Given the description of an element on the screen output the (x, y) to click on. 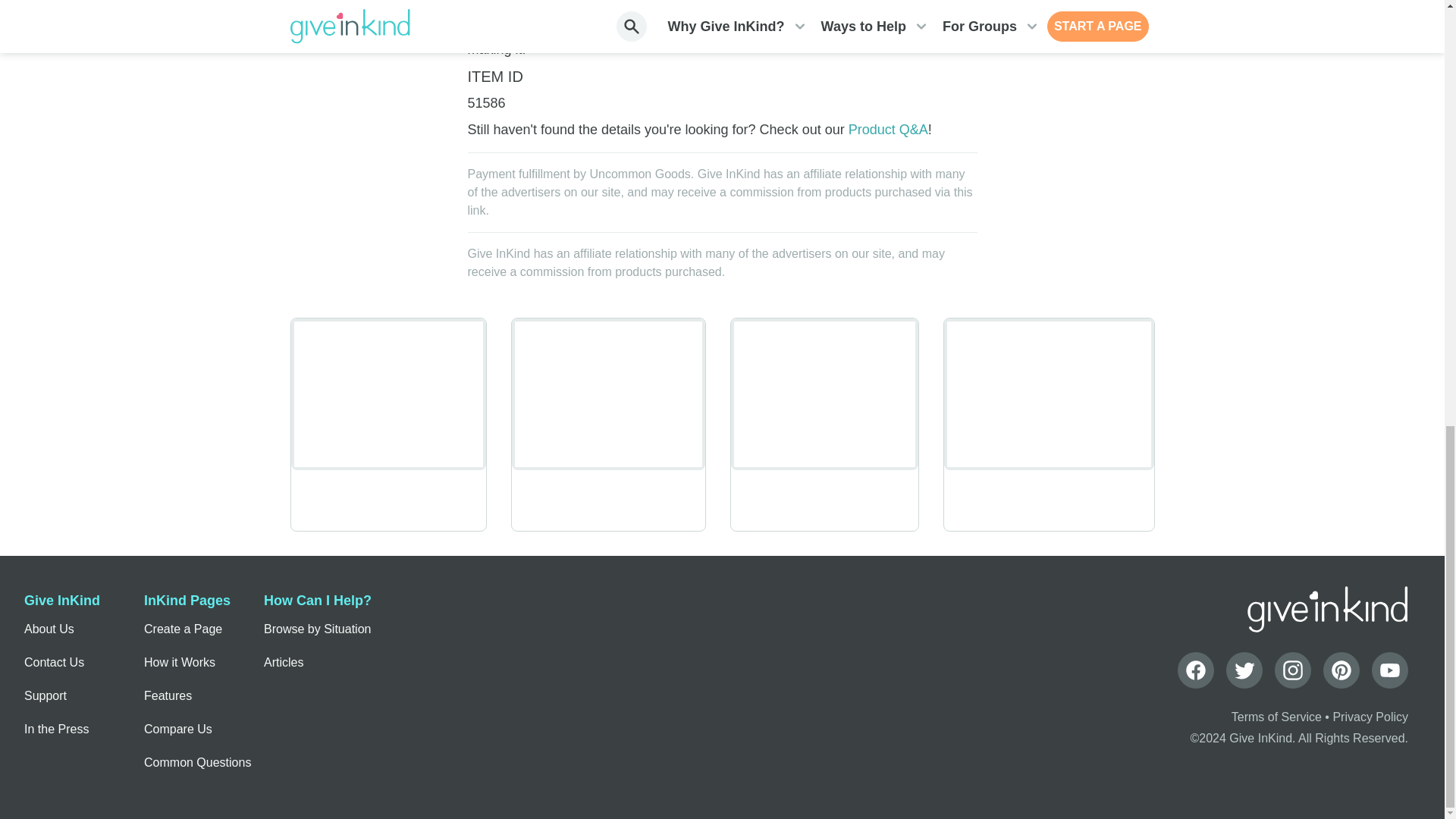
Features (168, 696)
Compare Us (178, 728)
In the Press (56, 728)
Contact Us (54, 662)
Create a Page (183, 628)
About Us (49, 628)
Common Questions (197, 762)
How it Works (179, 662)
Articles (282, 662)
Support (45, 696)
